Given the description of an element on the screen output the (x, y) to click on. 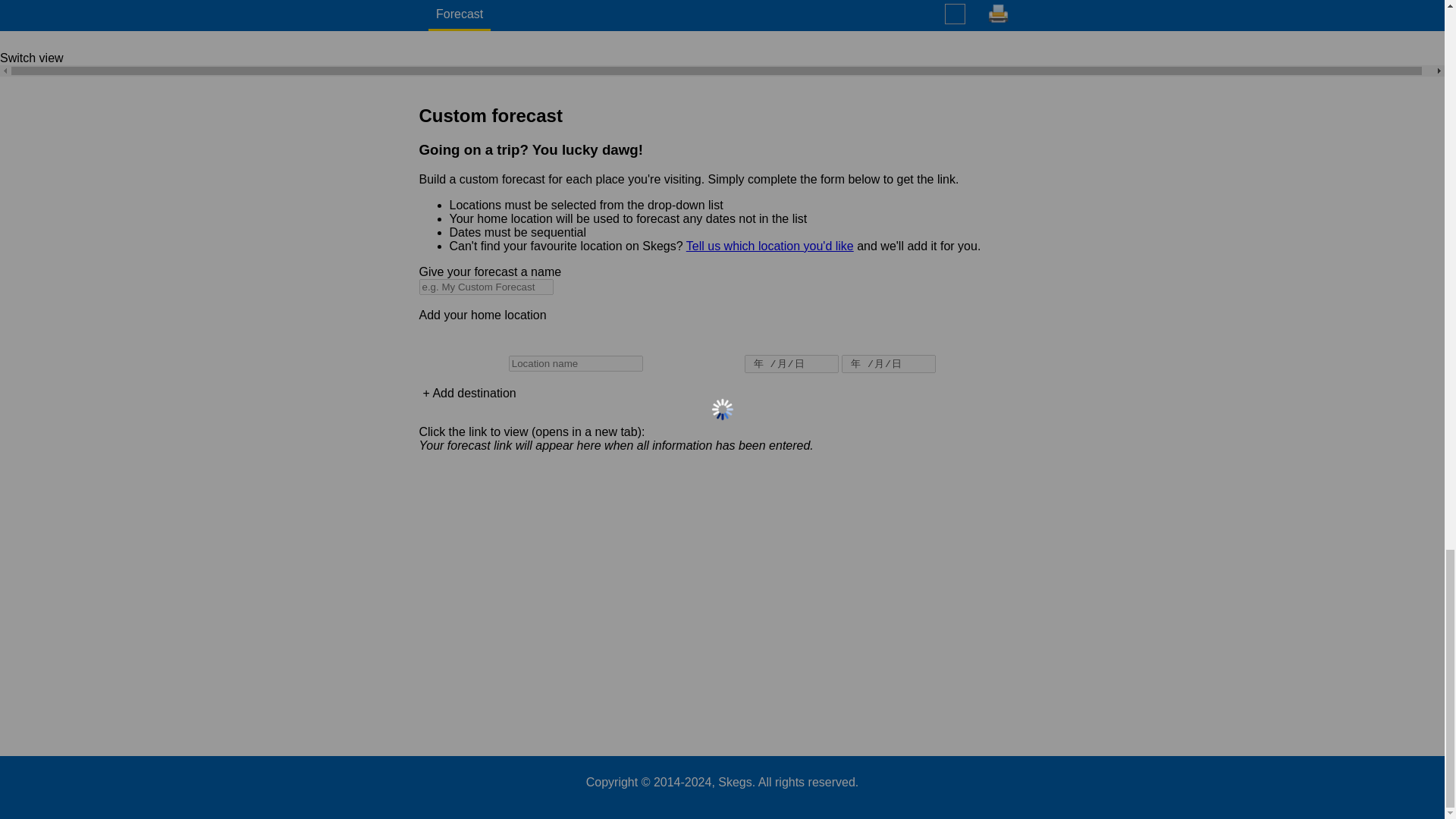
Tell us which location you'd like (769, 245)
